Given the description of an element on the screen output the (x, y) to click on. 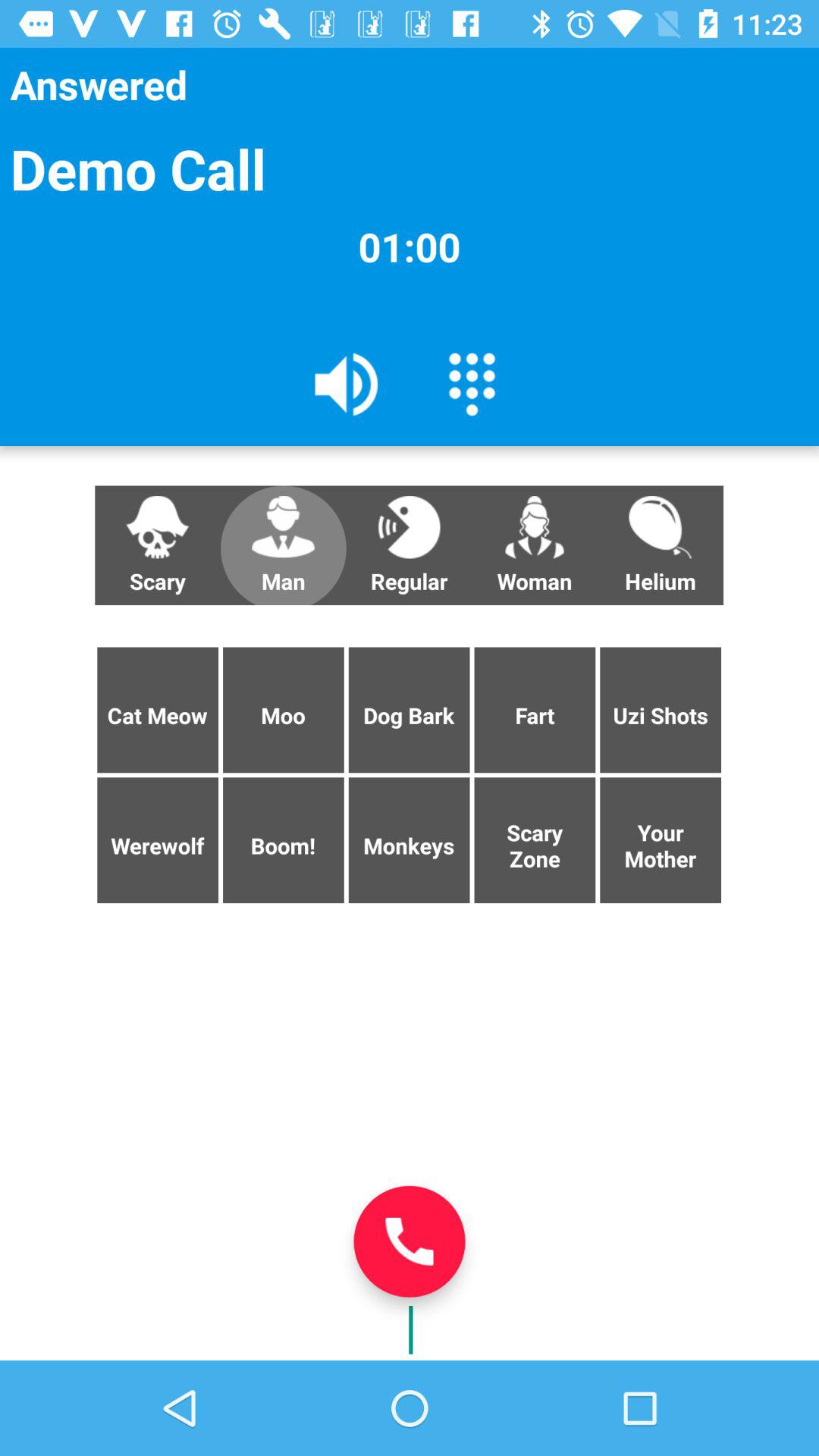
select item next to regular button (283, 545)
